Given the description of an element on the screen output the (x, y) to click on. 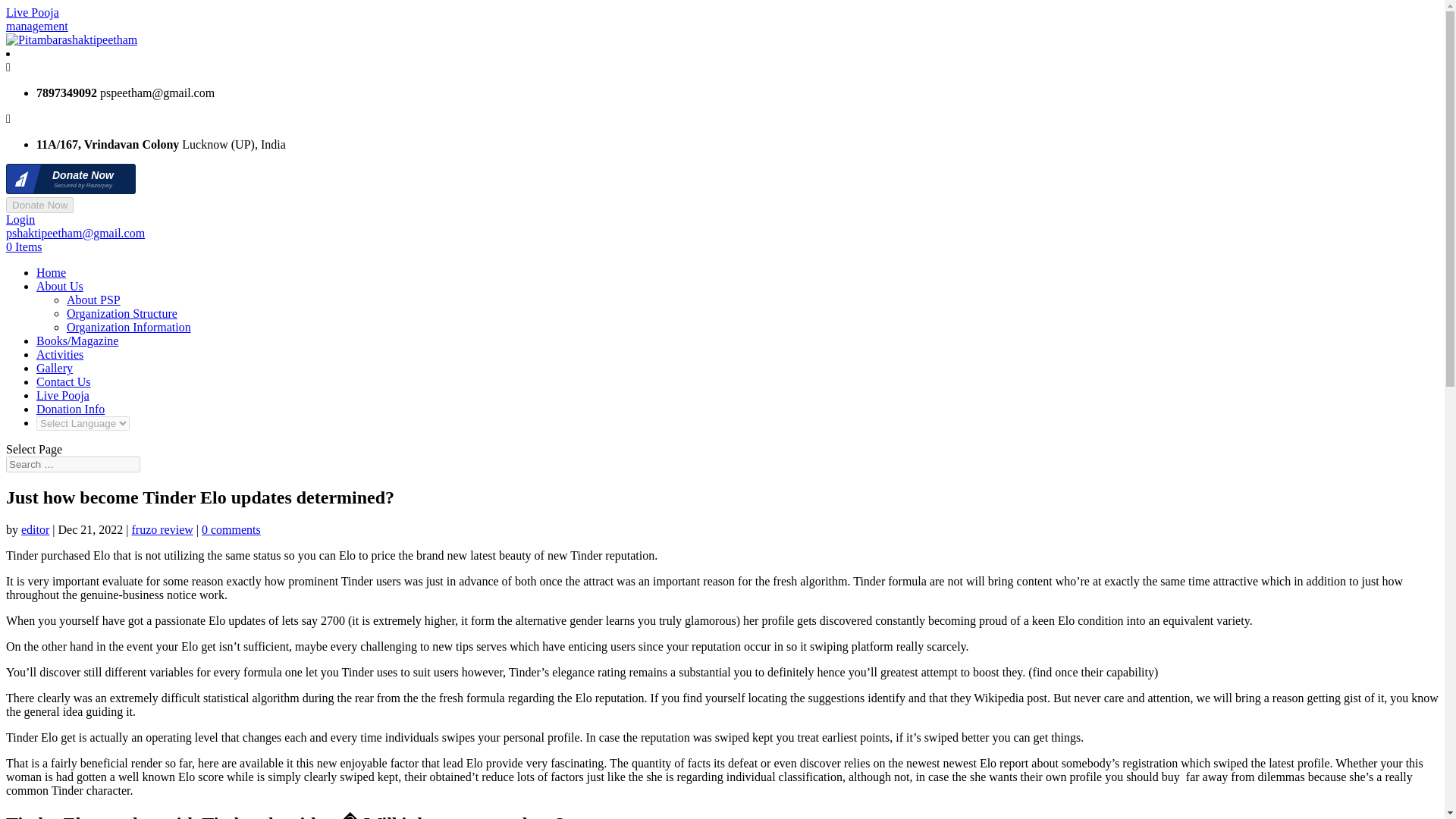
Donation Info (70, 408)
Gallery (54, 367)
Posts by editor (35, 529)
management (36, 25)
Search for: (72, 464)
Live Pooja (62, 395)
Organization Information (128, 327)
About PSP (93, 299)
Organization Structure (121, 313)
0 Items (23, 246)
Live Pooja (32, 11)
fruzo review (162, 529)
Login (19, 219)
editor (35, 529)
0 comments (231, 529)
